Given the description of an element on the screen output the (x, y) to click on. 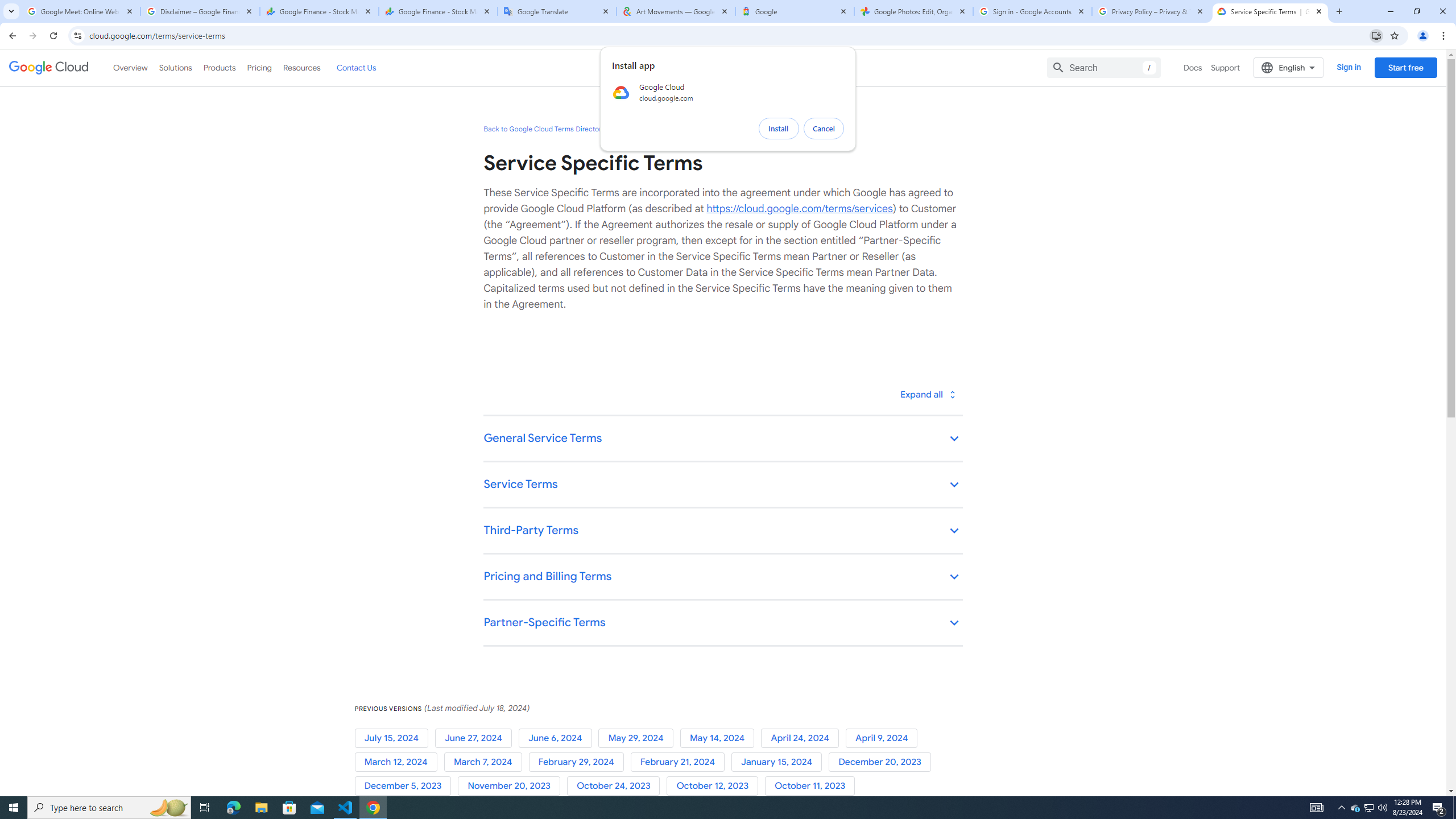
February 29, 2024 (579, 761)
October 24, 2023 (616, 786)
Google Cloud (48, 67)
December 5, 2023 (405, 786)
June 6, 2024 (558, 737)
Toggle all (927, 393)
General Service Terms keyboard_arrow_down (722, 439)
Search (1103, 67)
Service Terms keyboard_arrow_down (722, 485)
Sign in - Google Accounts (1032, 11)
October 11, 2023 (812, 786)
